Given the description of an element on the screen output the (x, y) to click on. 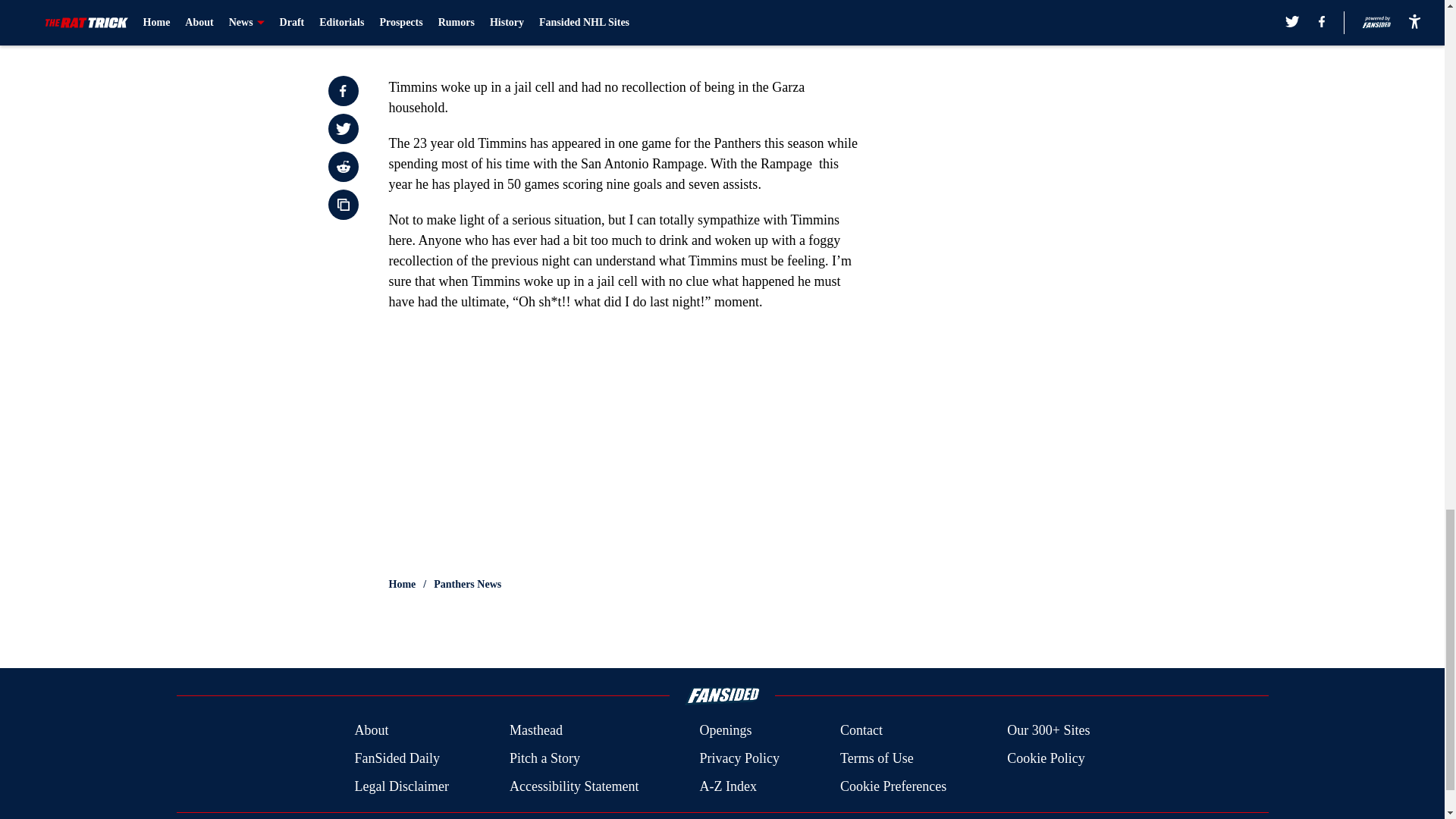
Openings (724, 730)
Masthead (535, 730)
Privacy Policy (738, 758)
Panthers News (466, 584)
FanSided Daily (396, 758)
Home (401, 584)
Accessibility Statement (574, 786)
A-Z Index (726, 786)
Legal Disclaimer (400, 786)
About (370, 730)
Cookie Policy (1045, 758)
Terms of Use (877, 758)
Pitch a Story (544, 758)
Contact (861, 730)
